Given the description of an element on the screen output the (x, y) to click on. 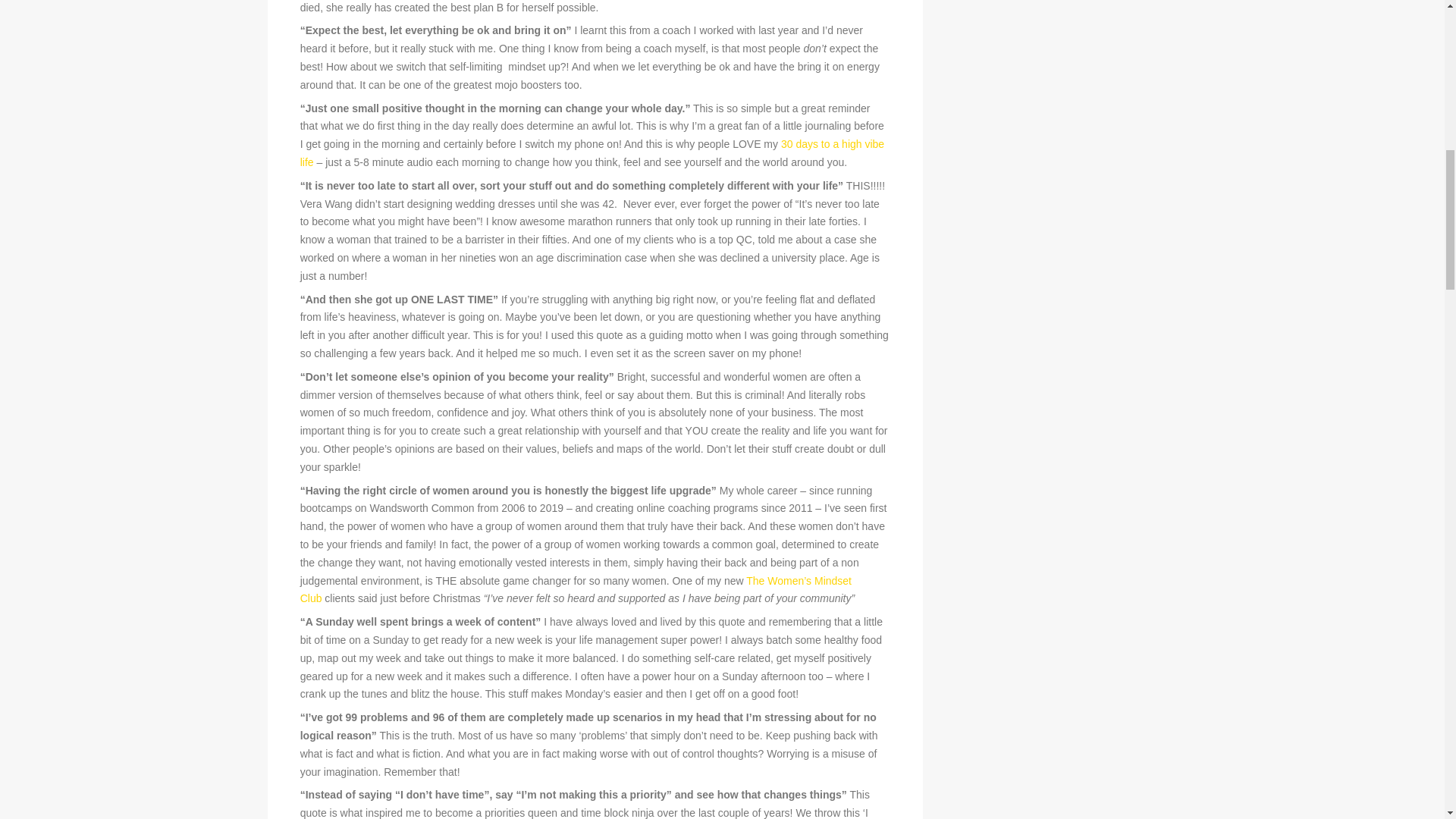
30 days to a high vibe life (591, 153)
